Given the description of an element on the screen output the (x, y) to click on. 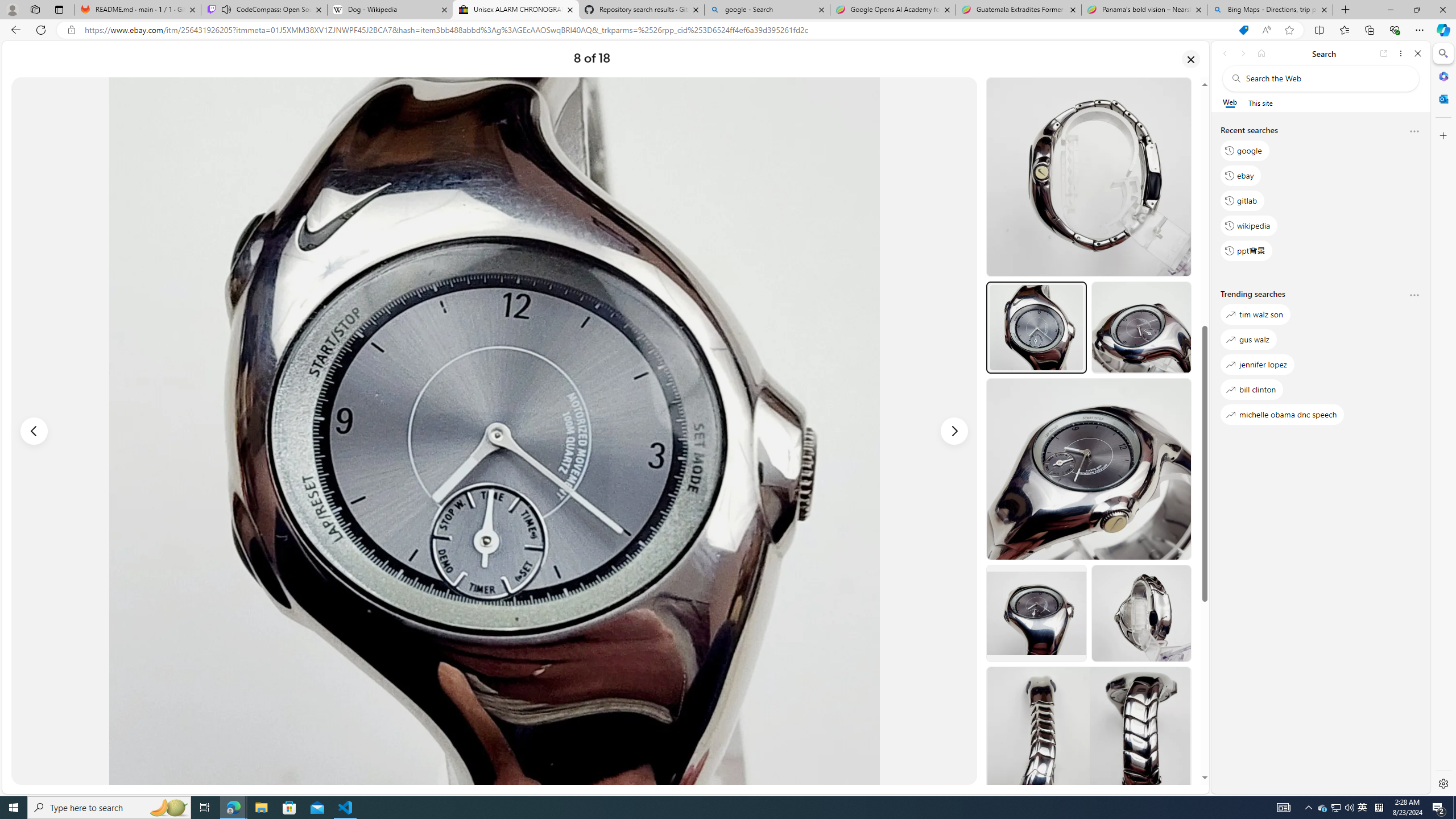
Web scope (1230, 102)
ebay (1240, 175)
You have the best price! Shopping in Microsoft Edge (1243, 29)
Search the web (1326, 78)
